Given the description of an element on the screen output the (x, y) to click on. 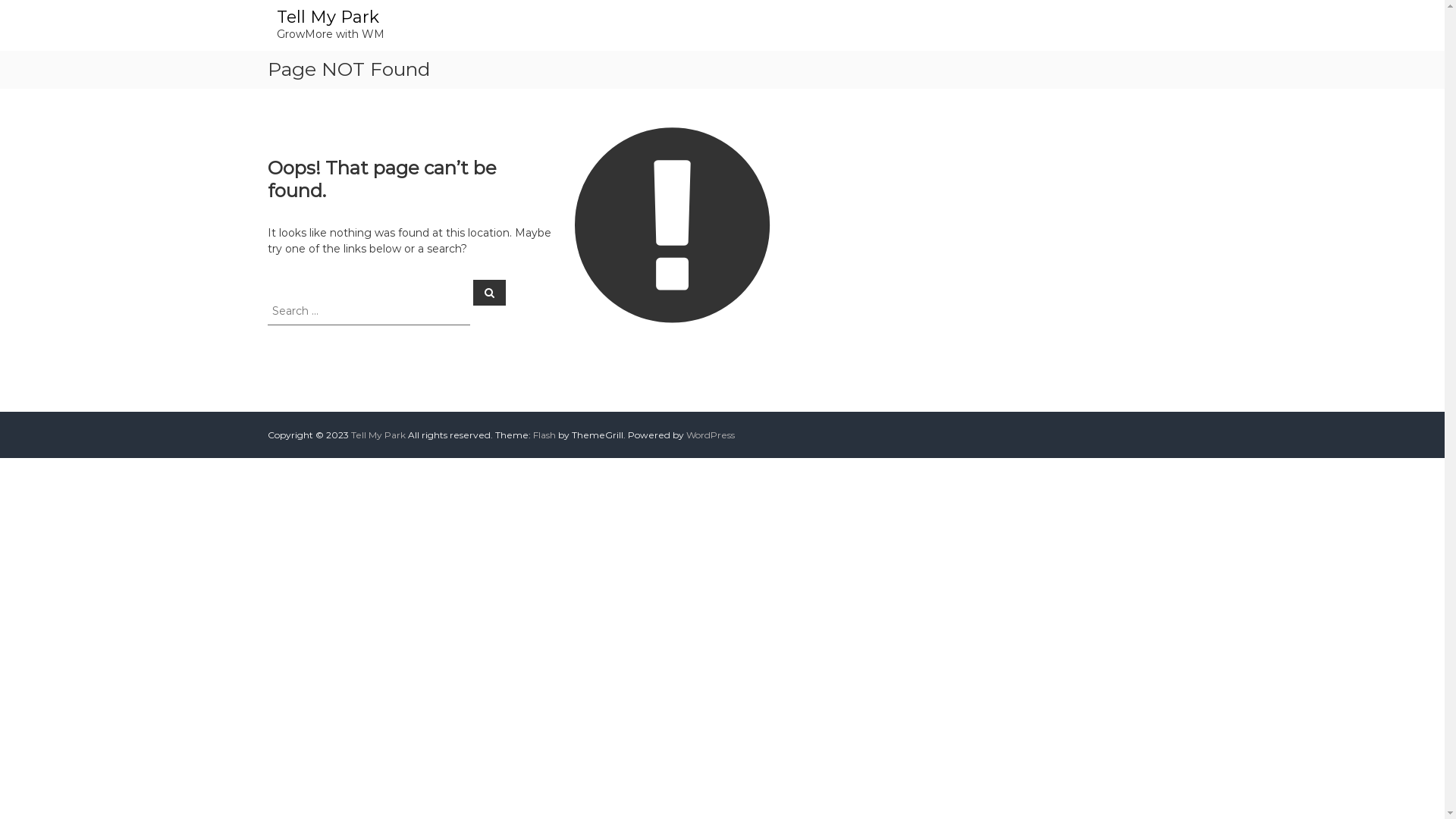
Search Element type: text (489, 291)
Flash Element type: text (543, 434)
WordPress Element type: text (709, 434)
Tell My Park Element type: text (327, 16)
Tell My Park Element type: text (377, 434)
